Given the description of an element on the screen output the (x, y) to click on. 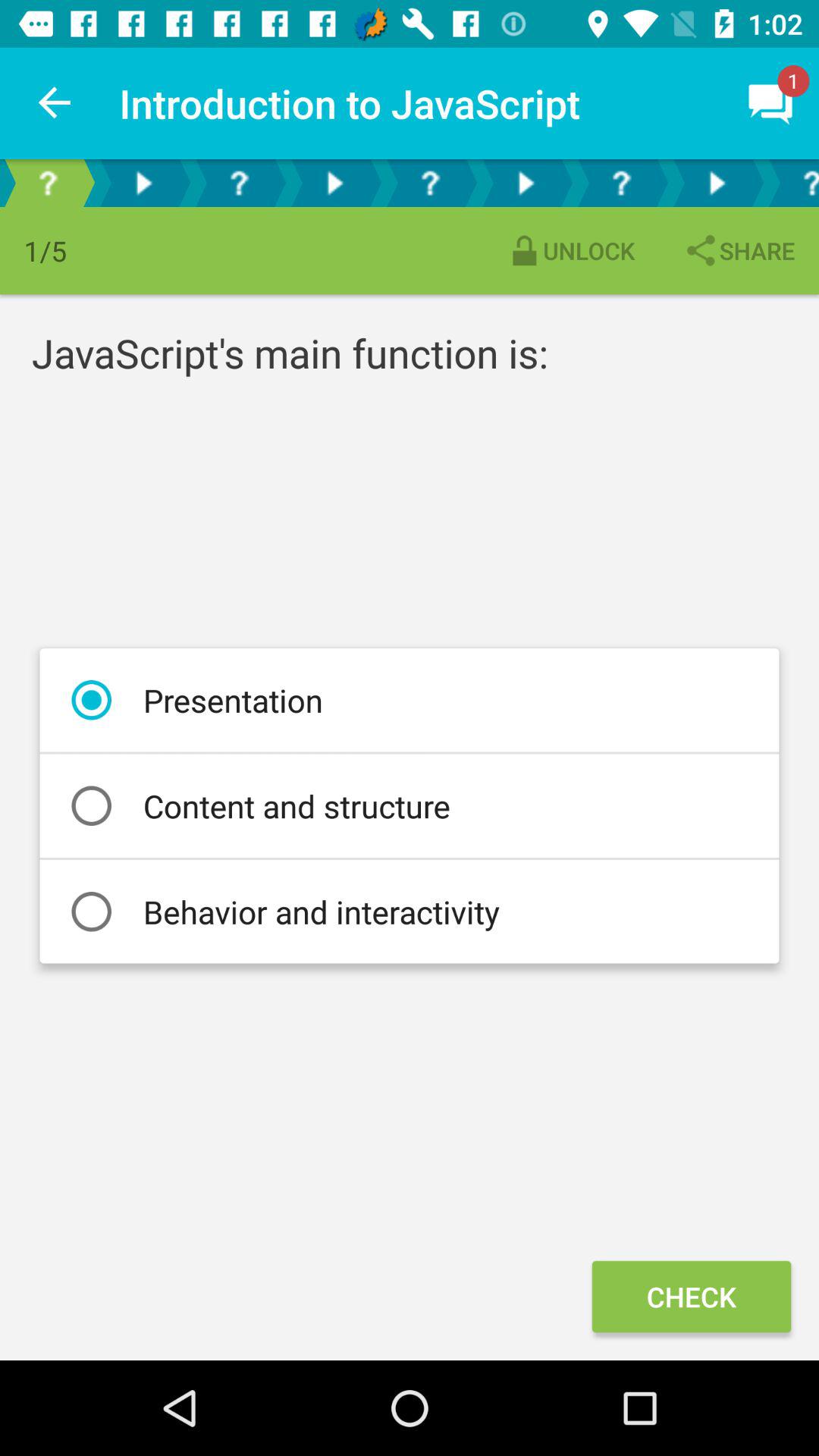
select question (47, 183)
